Given the description of an element on the screen output the (x, y) to click on. 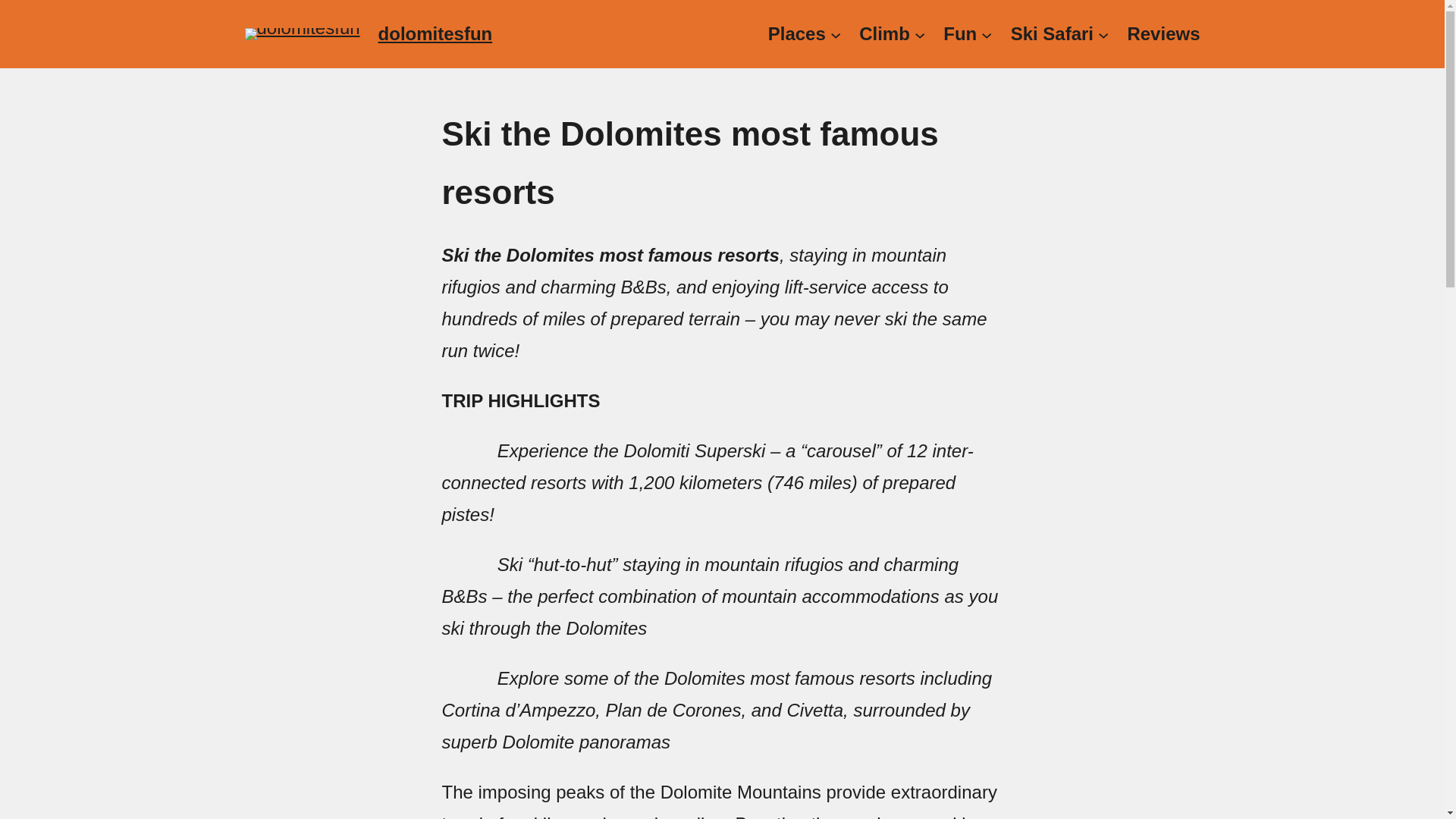
Fun (959, 33)
Climb (884, 33)
Reviews (1162, 33)
dolomitesfun (435, 33)
Ski Safari (1051, 33)
Places (796, 33)
